Given the description of an element on the screen output the (x, y) to click on. 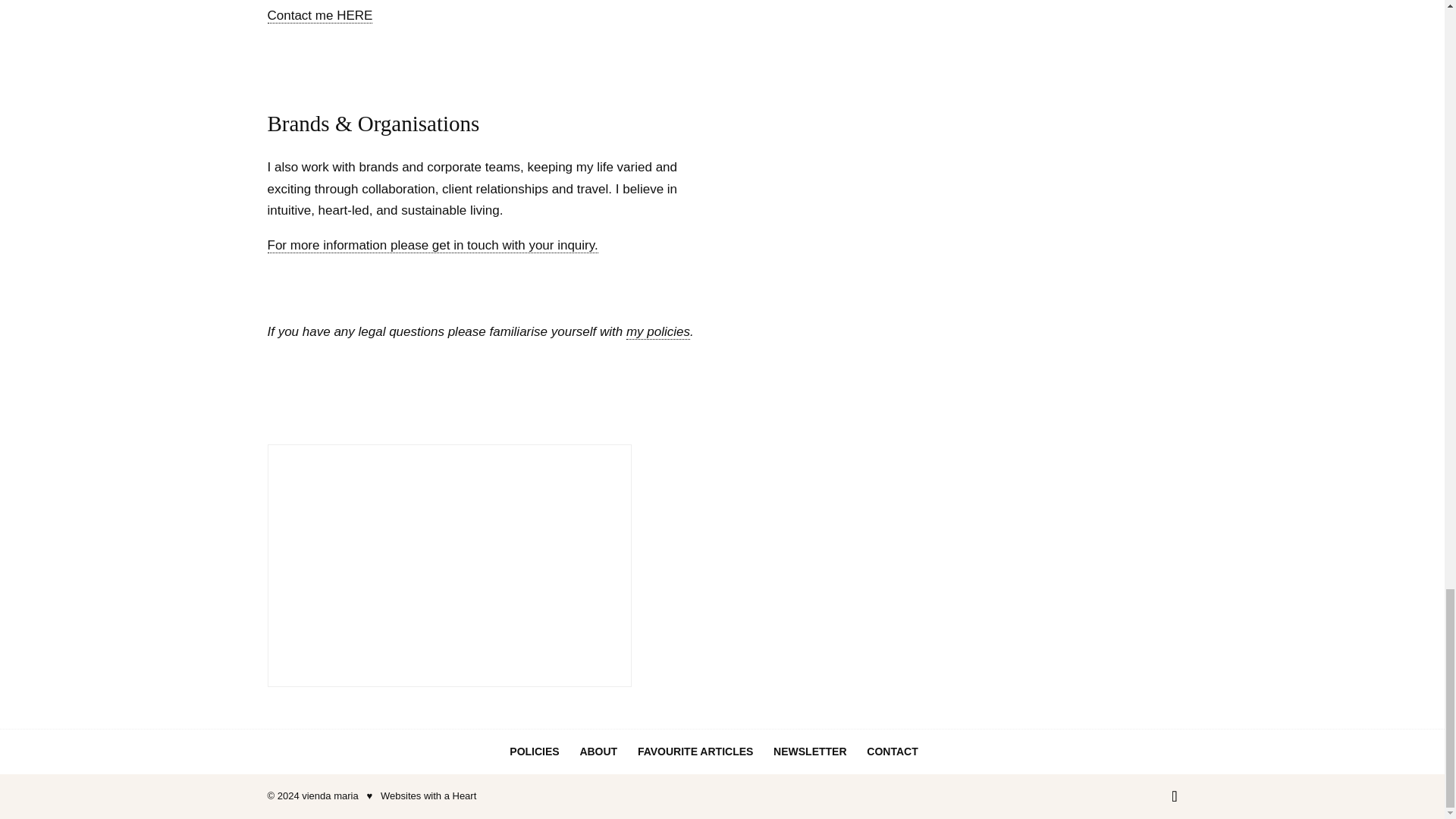
For more information please get in touch with your inquiry. (431, 245)
vienda maria (329, 795)
POLICIES (534, 751)
FAVOURITE ARTICLES (694, 751)
NEWSLETTER (809, 751)
ABOUT (598, 751)
my policies (658, 331)
Websites with a Heart (428, 795)
Contact me HERE (319, 15)
CONTACT (891, 751)
